Given the description of an element on the screen output the (x, y) to click on. 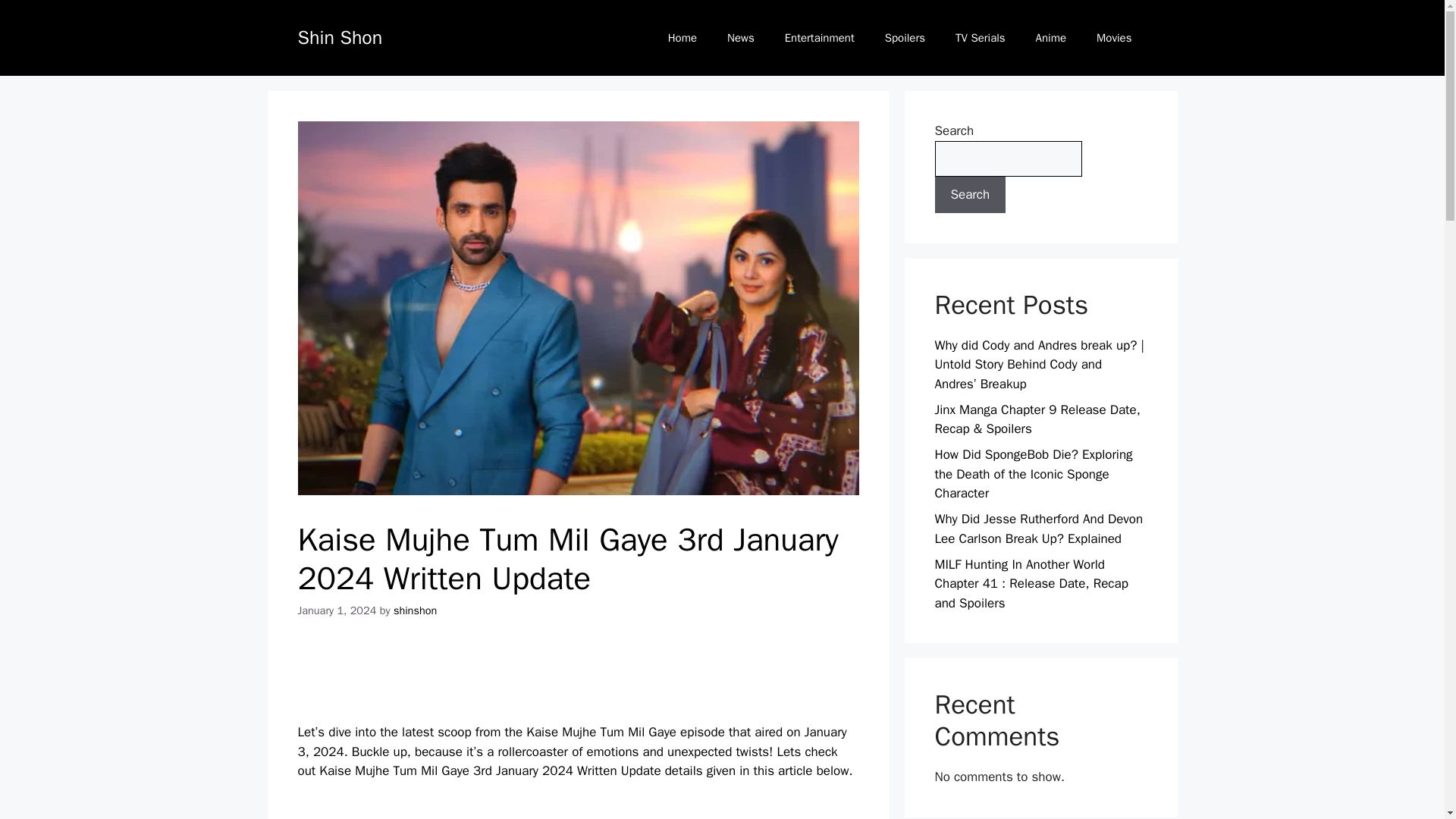
Entertainment (819, 37)
TV Serials (980, 37)
View all posts by shinshon (414, 610)
Spoilers (904, 37)
Anime (1050, 37)
Shin Shon (339, 37)
Movies (1114, 37)
shinshon (414, 610)
News (740, 37)
Home (681, 37)
Search (970, 194)
